Given the description of an element on the screen output the (x, y) to click on. 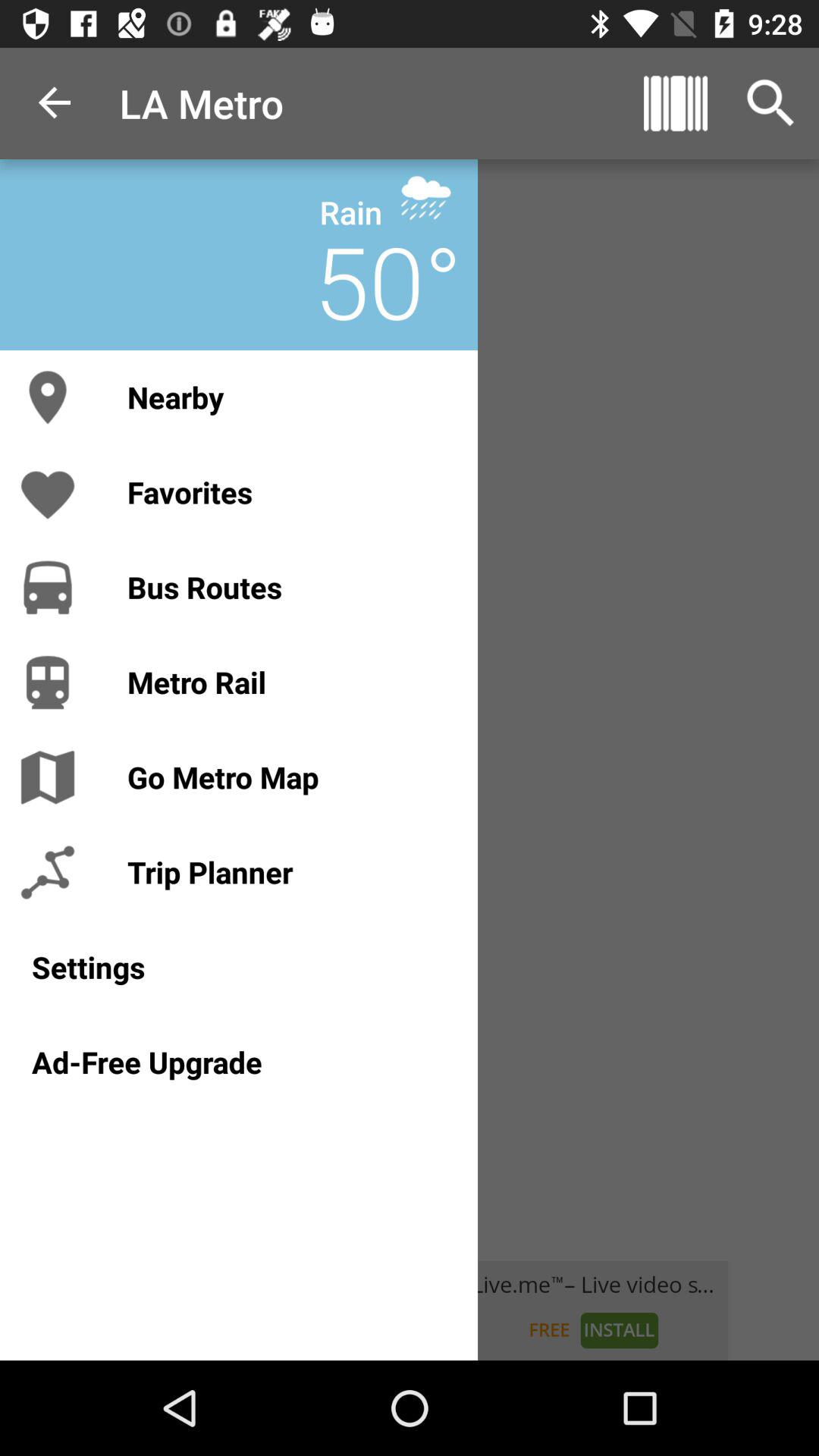
advertisement banner (409, 1310)
